Given the description of an element on the screen output the (x, y) to click on. 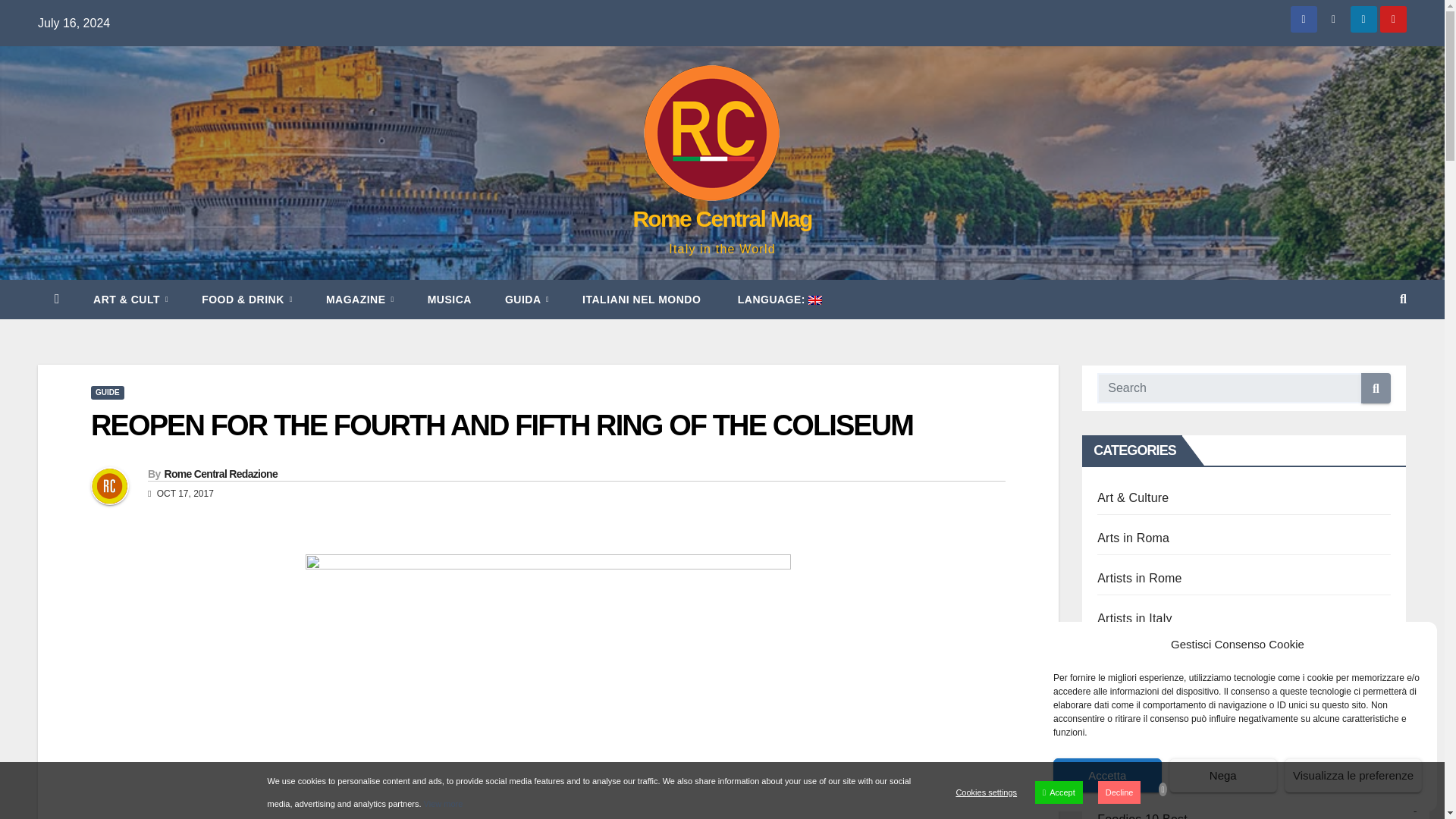
Nega (1223, 775)
Visualizza le preferenze (1353, 775)
Rome Central Mag (720, 218)
Accetta (1106, 775)
